Given the description of an element on the screen output the (x, y) to click on. 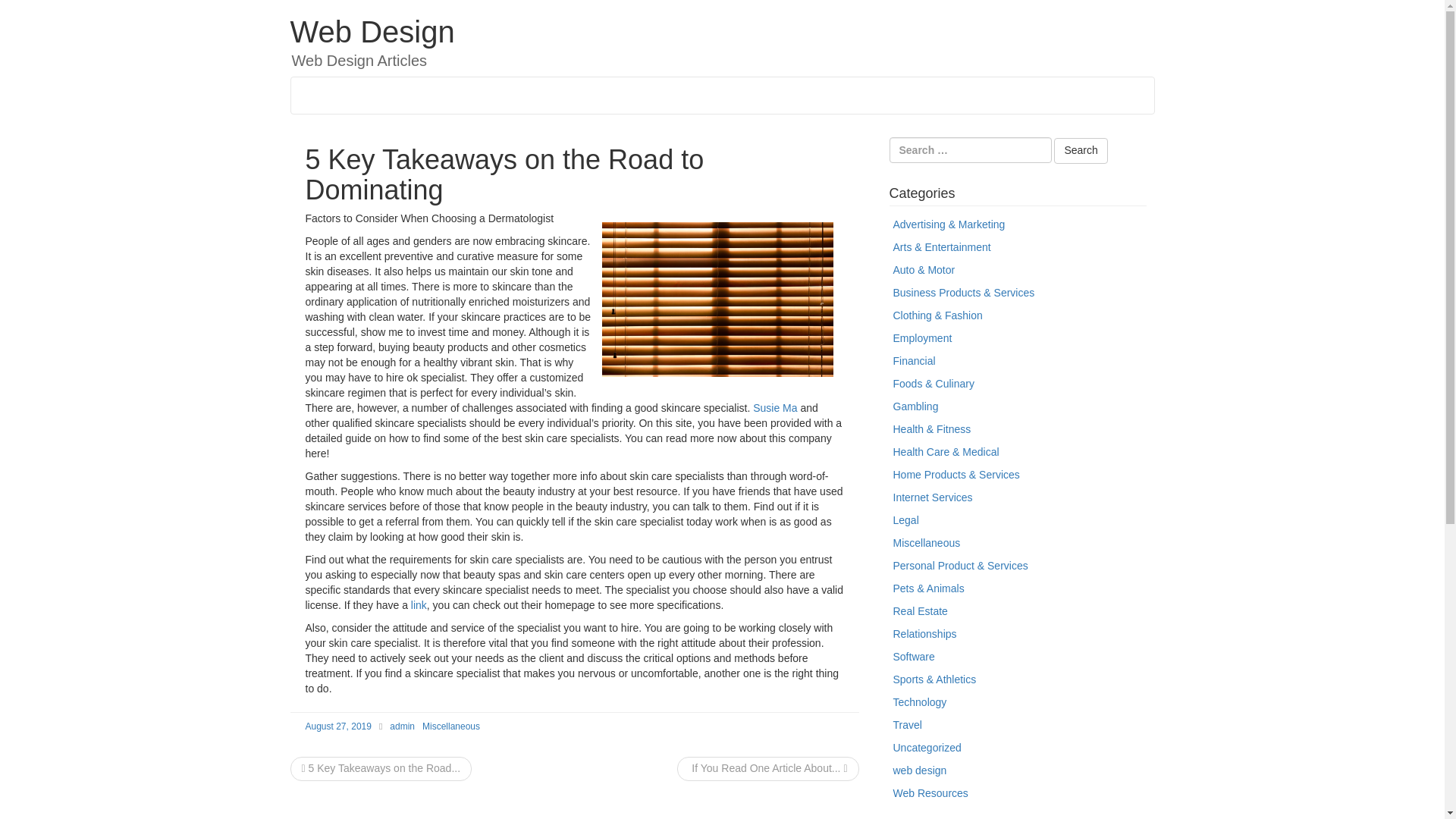
Search for: (969, 149)
Internet Services (932, 497)
Web Design (371, 31)
Financial (914, 360)
Search (1080, 150)
web design (920, 770)
August 27, 2019 (337, 726)
Employment (922, 337)
Real Estate (920, 611)
Miscellaneous (451, 726)
